Given the description of an element on the screen output the (x, y) to click on. 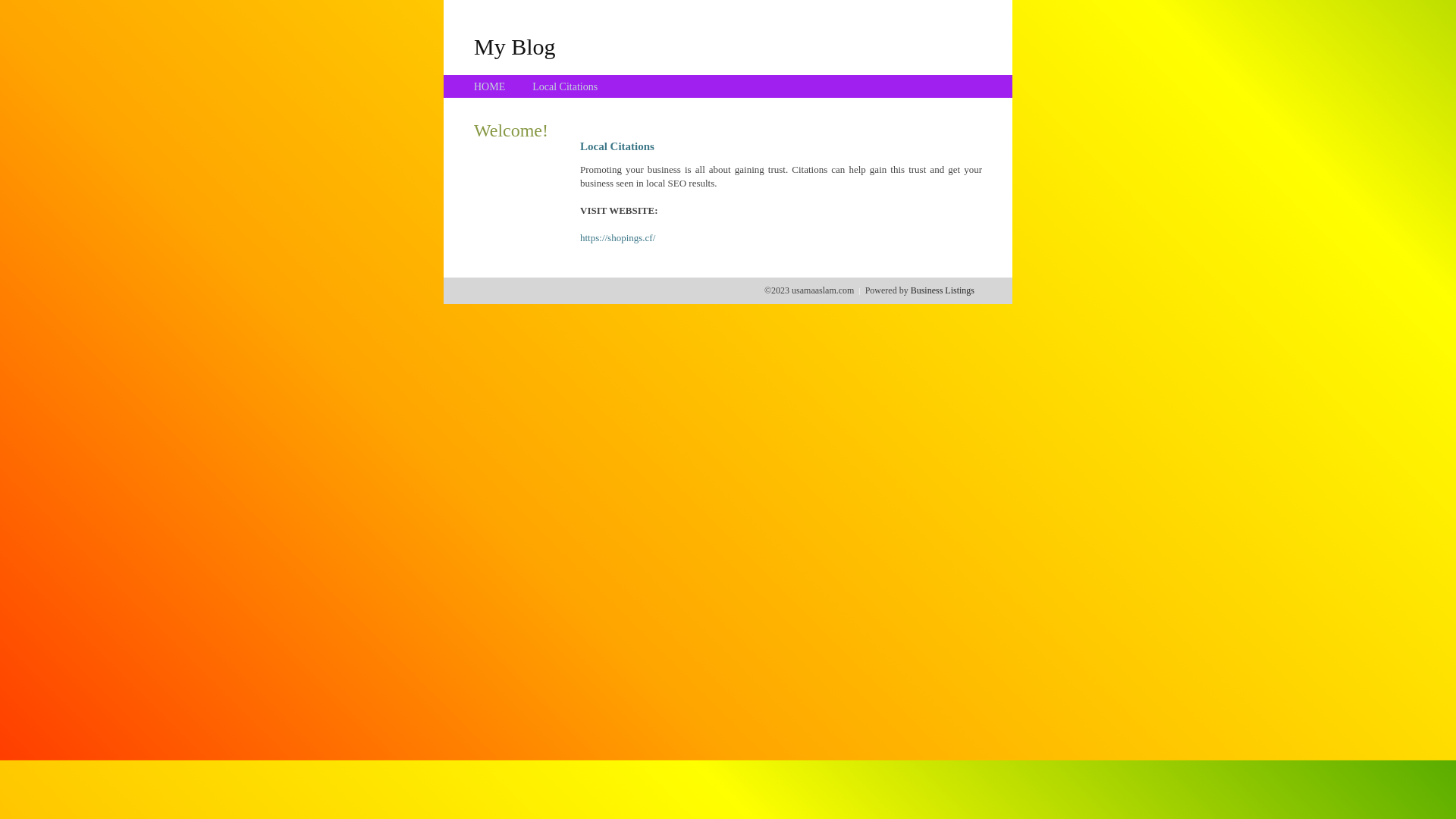
https://shopings.cf/ Element type: text (617, 237)
My Blog Element type: text (514, 46)
Business Listings Element type: text (942, 290)
Local Citations Element type: text (564, 86)
HOME Element type: text (489, 86)
